Given the description of an element on the screen output the (x, y) to click on. 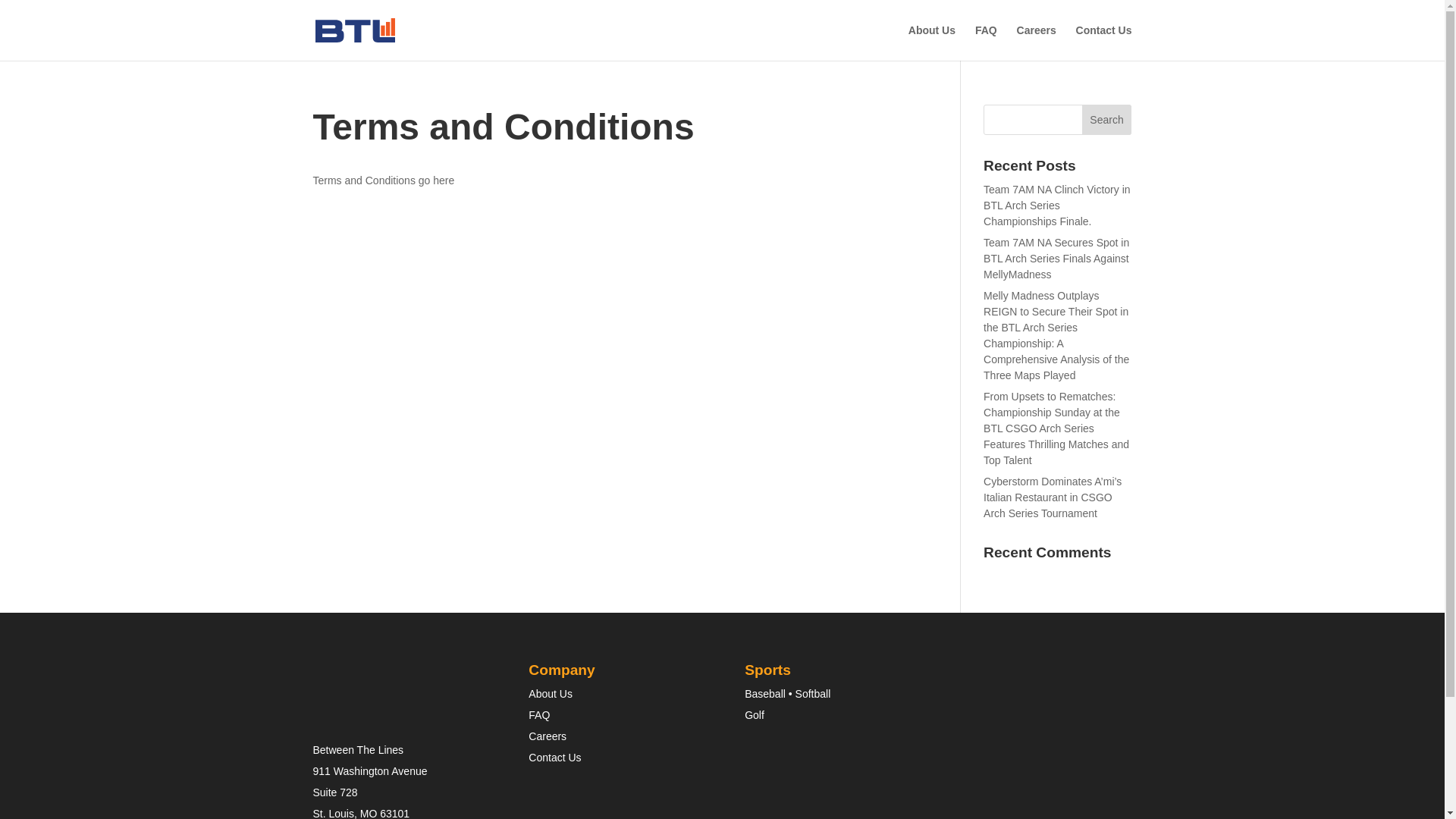
Search (1106, 119)
Careers (1036, 42)
Contact Us (1103, 42)
Search (1106, 119)
FAQ (539, 715)
Golf (754, 715)
About Us (550, 693)
Contact Us (554, 757)
About Us (931, 42)
Careers (547, 736)
